Given the description of an element on the screen output the (x, y) to click on. 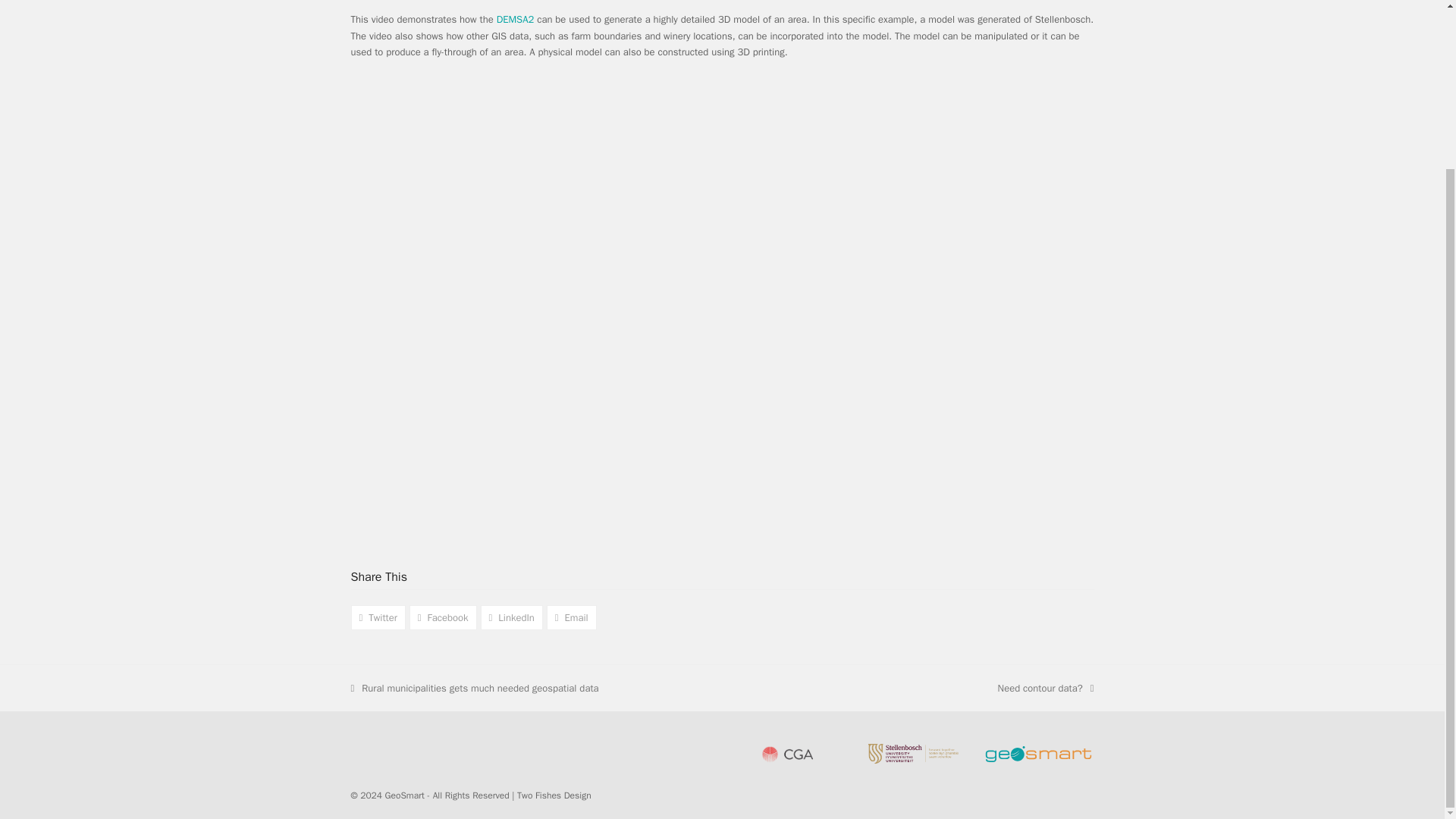
DEMSA2 (515, 19)
LinkedIn (511, 617)
GeoSmart (405, 795)
Facebook (443, 617)
Two Fishes Design (553, 795)
Twitter (377, 617)
Email (1045, 688)
